Given the description of an element on the screen output the (x, y) to click on. 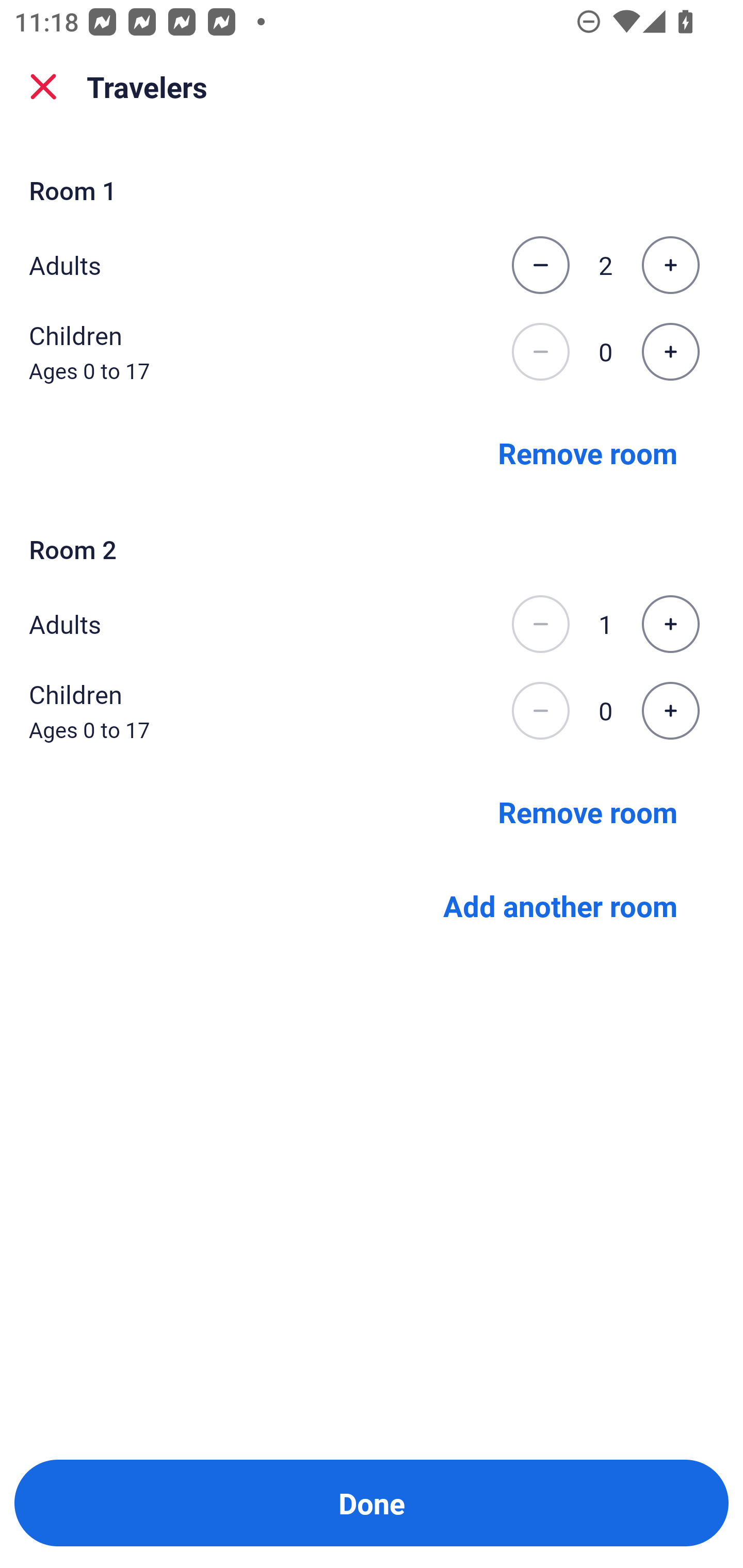
close (43, 86)
Decrease the number of adults (540, 264)
Increase the number of adults (670, 264)
Decrease the number of children (540, 351)
Increase the number of children (670, 351)
Remove room (588, 452)
Decrease the number of adults (540, 623)
Increase the number of adults (670, 623)
Decrease the number of children (540, 710)
Increase the number of children (670, 710)
Remove room (588, 811)
Add another room (560, 905)
Done (371, 1502)
